Given the description of an element on the screen output the (x, y) to click on. 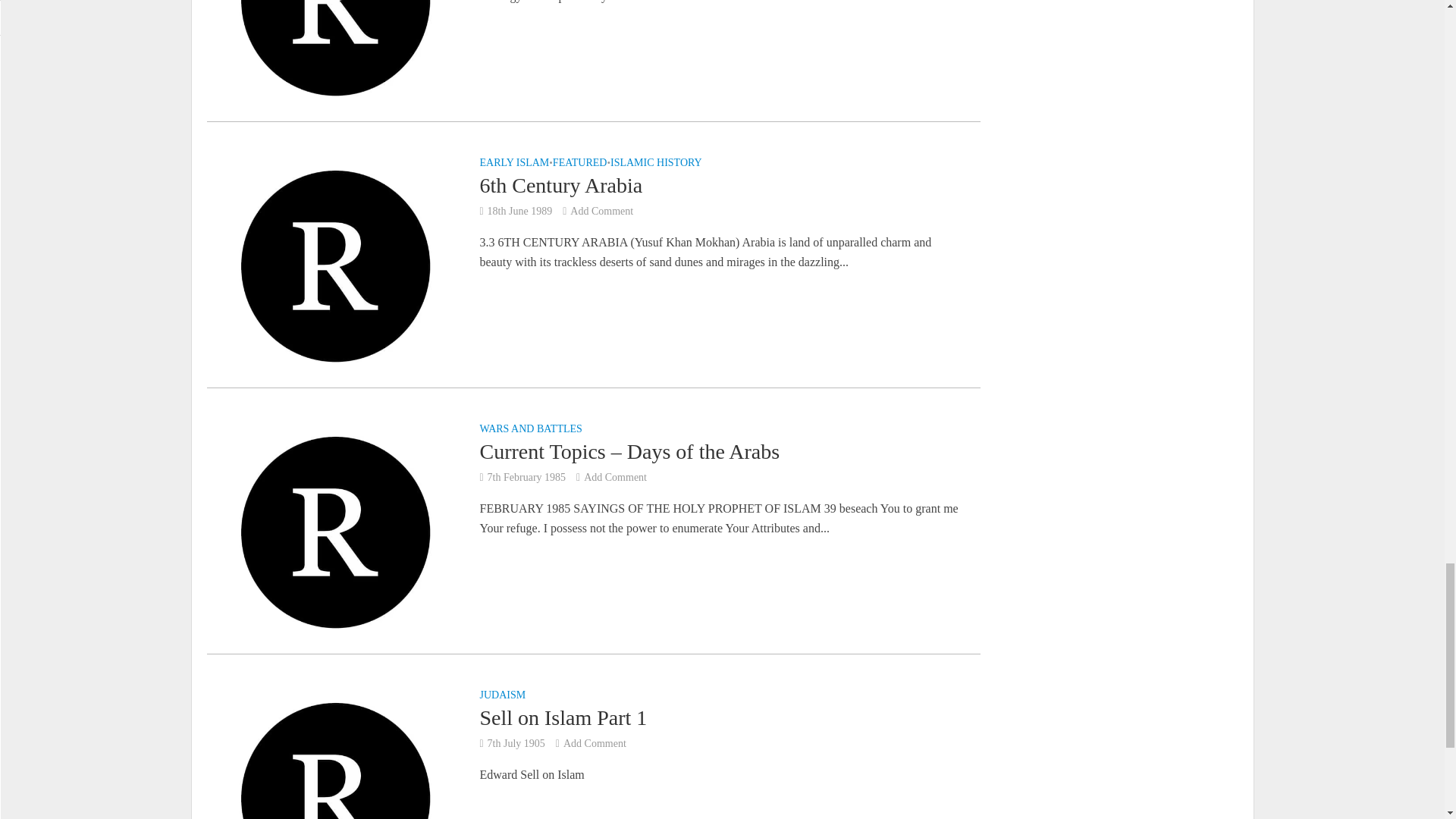
6th Century Arabia (334, 264)
Sell on Islam Part 1 (334, 797)
Rebuttal of Maududi Philosophy (334, 2)
